Given the description of an element on the screen output the (x, y) to click on. 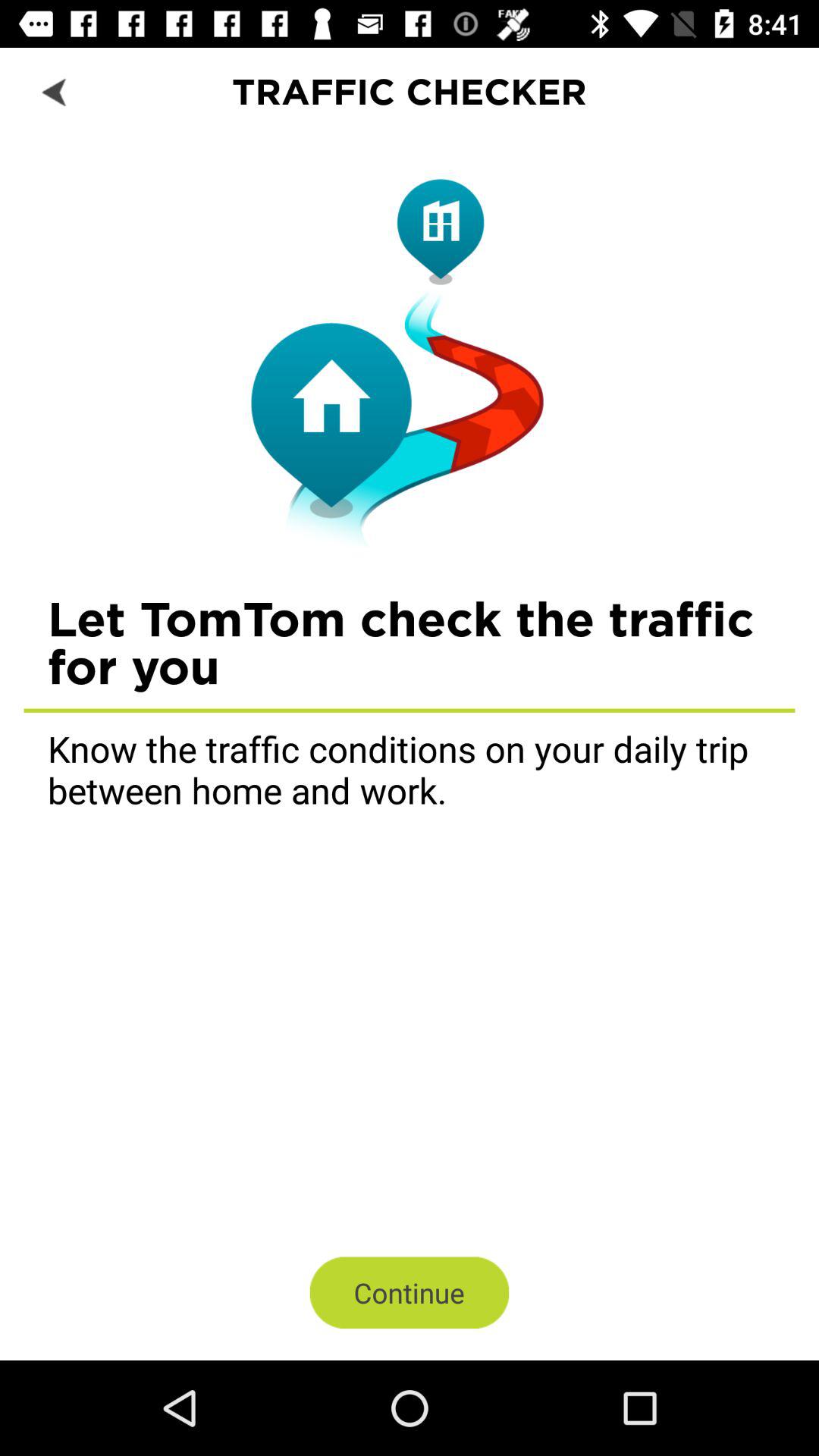
jump until the continue icon (409, 1292)
